Given the description of an element on the screen output the (x, y) to click on. 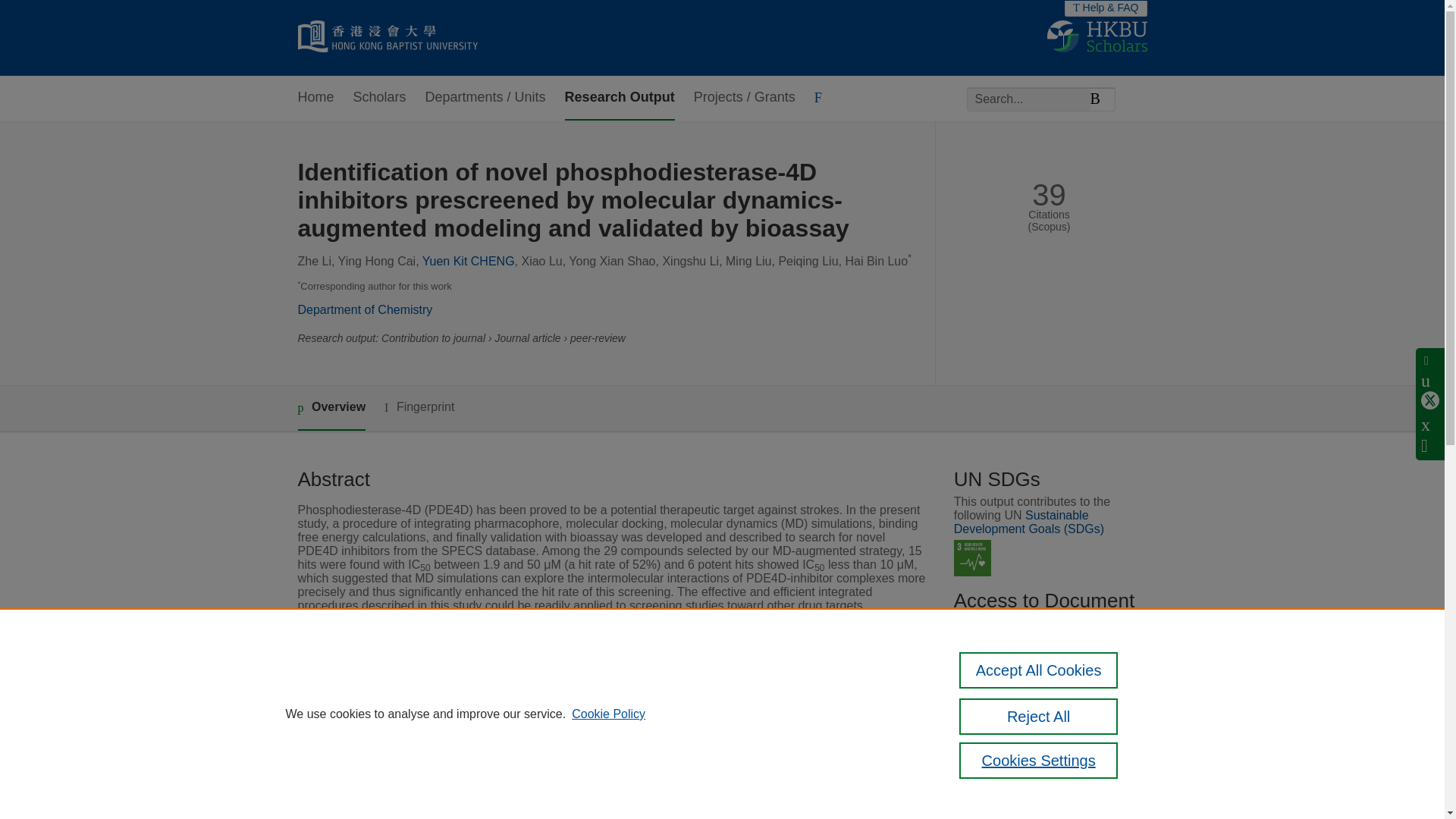
Journal of Chemical Information and Modeling (629, 696)
Hong Kong Baptist University Home (387, 37)
Fingerprint (419, 407)
Overview (331, 407)
Link to publication in Scopus (1045, 682)
Yuen Kit CHENG (468, 260)
Research Output (619, 98)
SDG 3 - Good Health and Well-being (972, 558)
Department of Chemistry (364, 309)
